Given the description of an element on the screen output the (x, y) to click on. 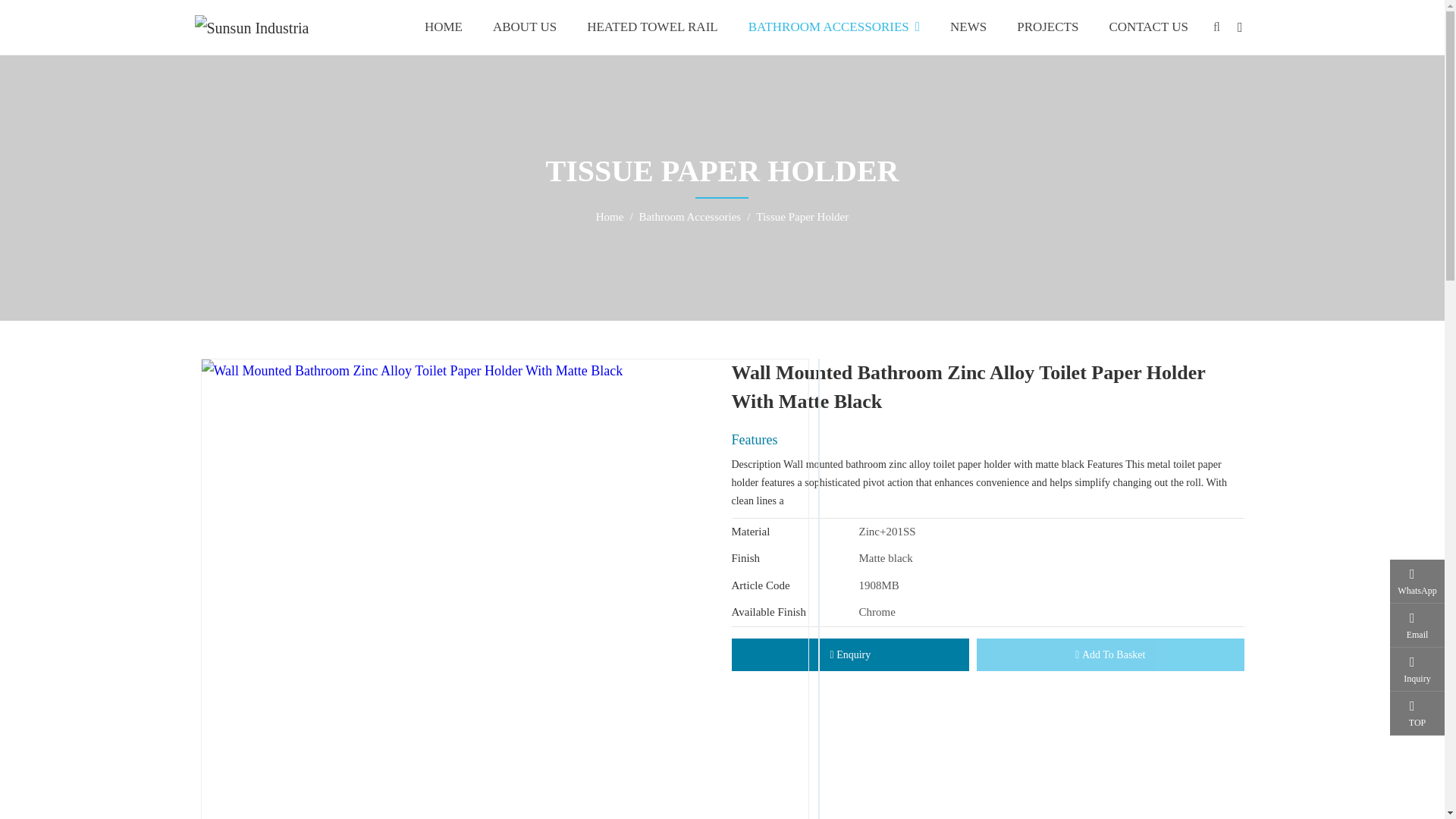
Home (609, 216)
PROJECTS (1047, 27)
Add To Basket (1109, 654)
Enquiry (849, 654)
BATHROOM ACCESSORIES (833, 27)
NEWS (967, 27)
Bathroom Accessories (690, 216)
CONTACT US (1148, 27)
ABOUT US (524, 27)
